Given the description of an element on the screen output the (x, y) to click on. 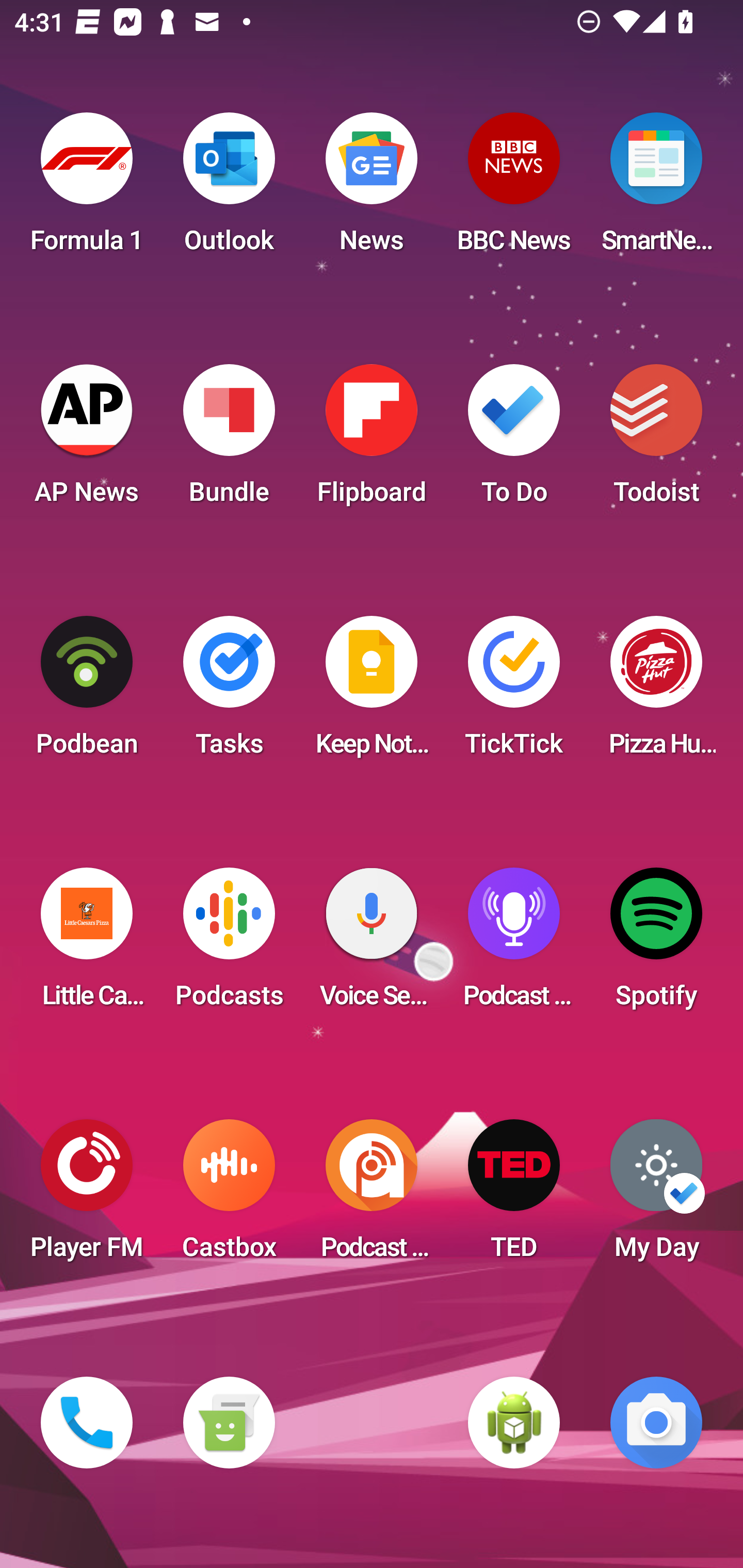
Formula 1 (86, 188)
Outlook (228, 188)
News (371, 188)
BBC News (513, 188)
SmartNews (656, 188)
AP News (86, 440)
Bundle (228, 440)
Flipboard (371, 440)
To Do (513, 440)
Todoist (656, 440)
Podbean (86, 692)
Tasks (228, 692)
Keep Notes (371, 692)
TickTick (513, 692)
Pizza Hut HK & Macau (656, 692)
Little Caesars Pizza (86, 943)
Podcasts (228, 943)
Voice Search (371, 943)
Podcast Player (513, 943)
Spotify (656, 943)
Player FM (86, 1195)
Castbox (228, 1195)
Podcast Addict (371, 1195)
TED (513, 1195)
My Day (656, 1195)
Phone (86, 1422)
Messaging (228, 1422)
WebView Browser Tester (513, 1422)
Camera (656, 1422)
